Given the description of an element on the screen output the (x, y) to click on. 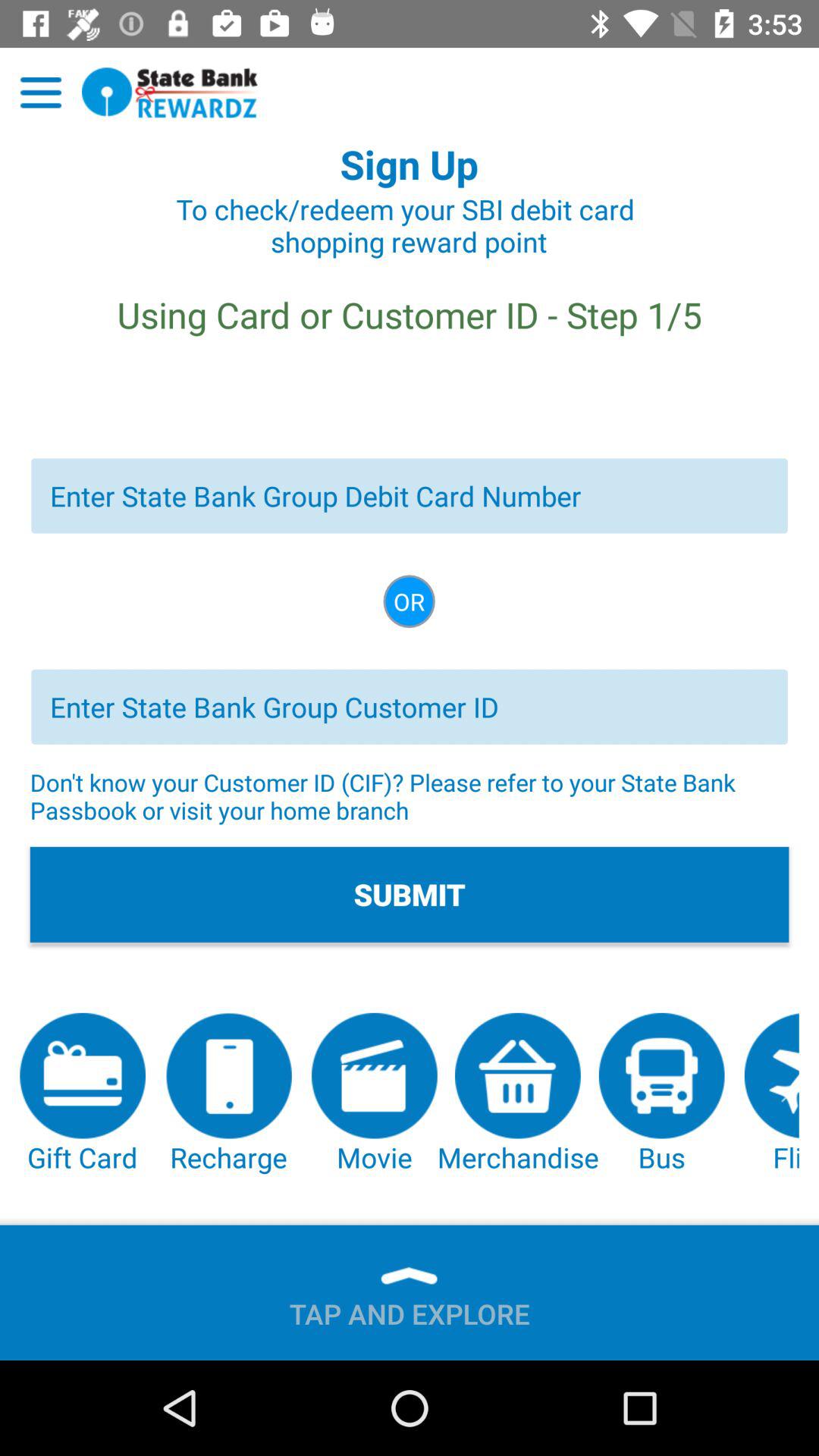
swipe until tap and explore (409, 1307)
